Given the description of an element on the screen output the (x, y) to click on. 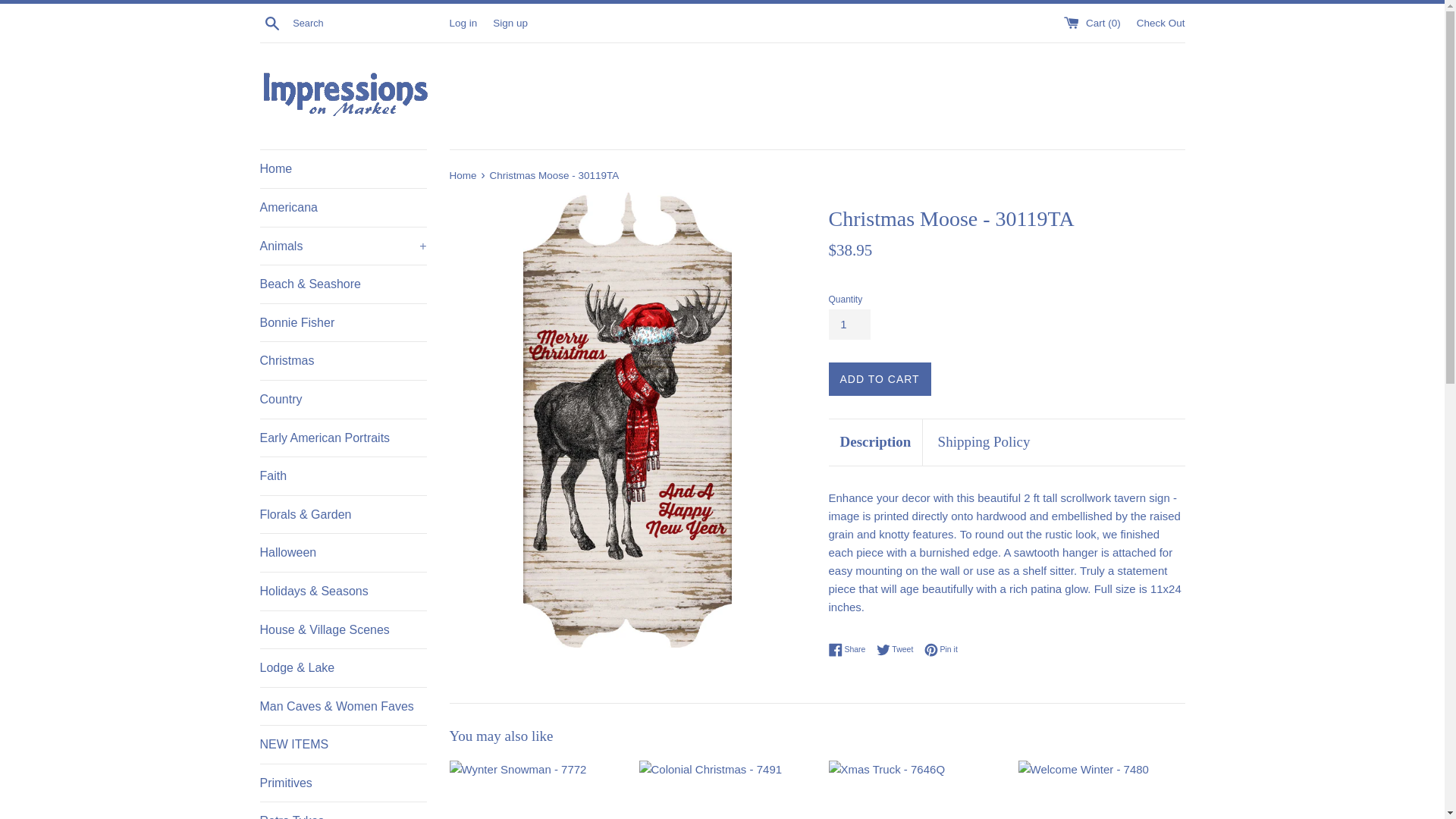
Primitives (342, 783)
Home (342, 168)
Sign up (510, 21)
Wynter Snowman - 7772 (531, 789)
Tweet on Twitter (898, 649)
Xmas Truck - 7646Q (911, 789)
Christmas (342, 361)
1 (848, 324)
Check Out (1161, 21)
Welcome Winter - 7480 (1101, 789)
Americana (342, 207)
Back to the frontpage (463, 174)
Pin on Pinterest (941, 649)
Early American Portraits (342, 438)
Share on Facebook (850, 649)
